Given the description of an element on the screen output the (x, y) to click on. 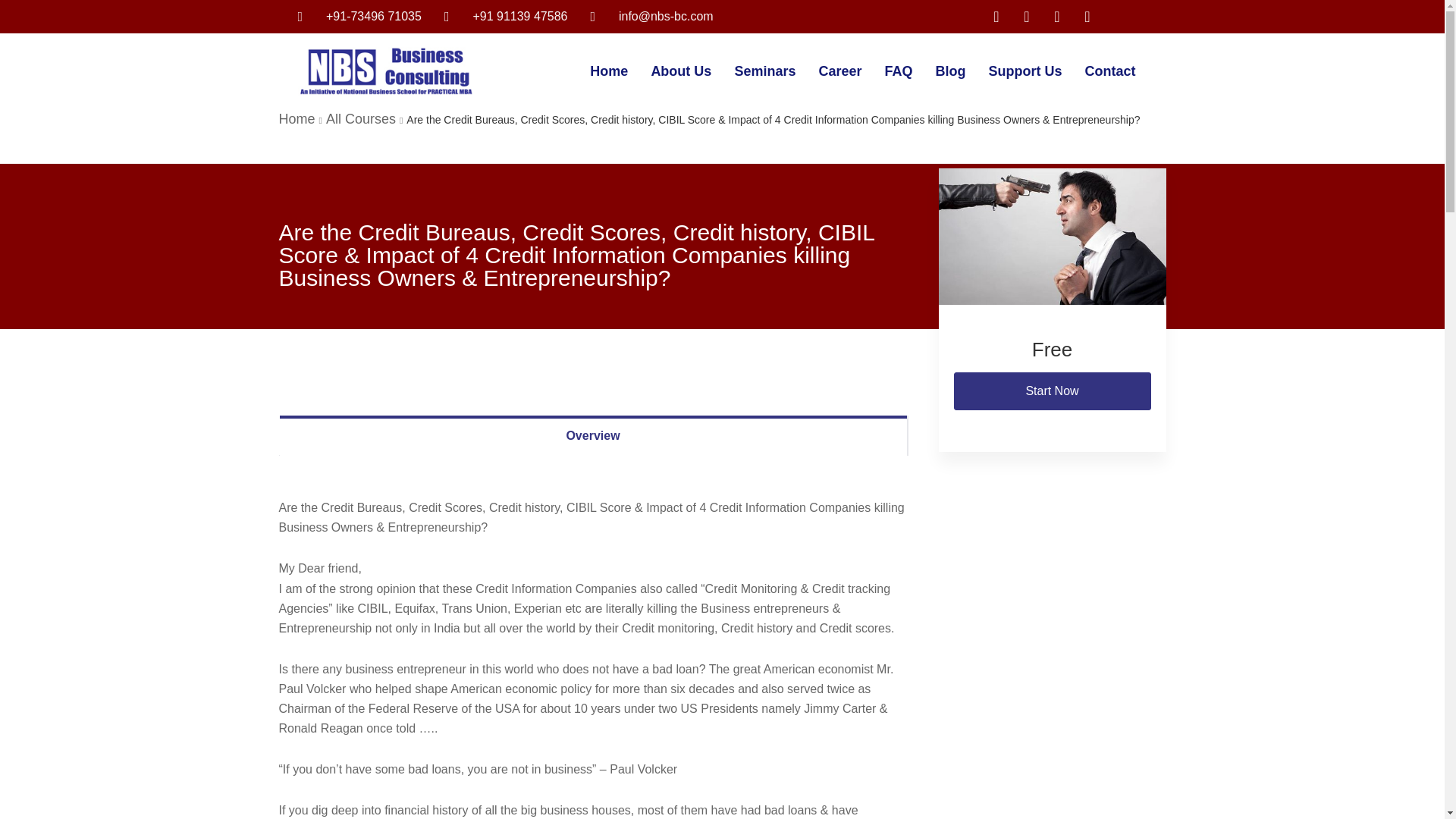
Seminars (764, 70)
Support Us (1024, 70)
Home (297, 118)
Career (839, 70)
Start Now (1052, 391)
Home (608, 70)
All Courses (361, 118)
About Us (680, 70)
Contact (1110, 70)
